Given the description of an element on the screen output the (x, y) to click on. 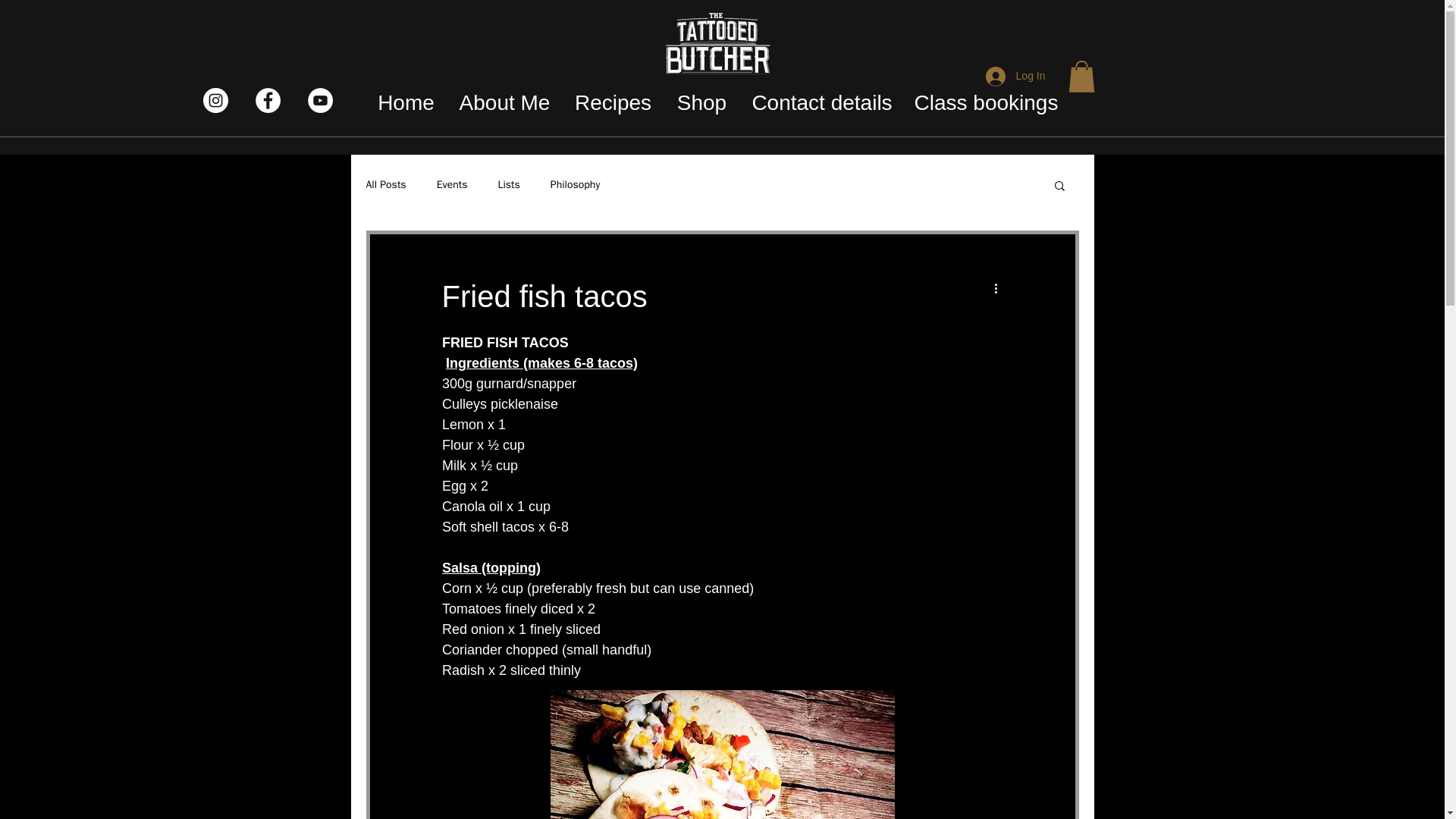
Recipes (612, 101)
About Me (504, 101)
Events (451, 184)
All Posts (385, 184)
Home (405, 101)
Class bookings (985, 101)
Philosophy (574, 184)
Contact details (821, 101)
Shop (701, 101)
Log In (1016, 76)
